Given the description of an element on the screen output the (x, y) to click on. 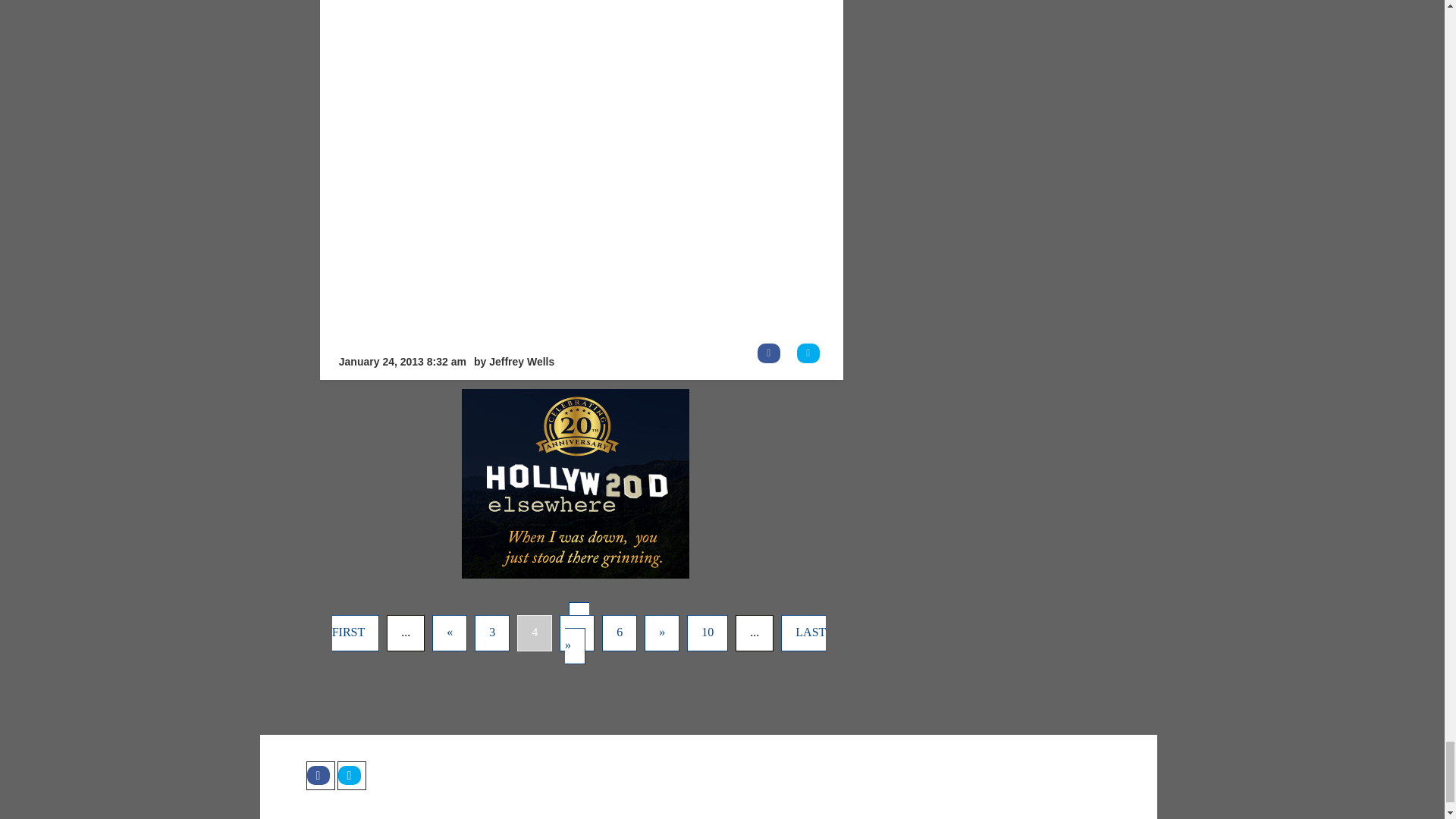
5 (576, 633)
10 (707, 633)
3 (491, 633)
6 (619, 633)
